Given the description of an element on the screen output the (x, y) to click on. 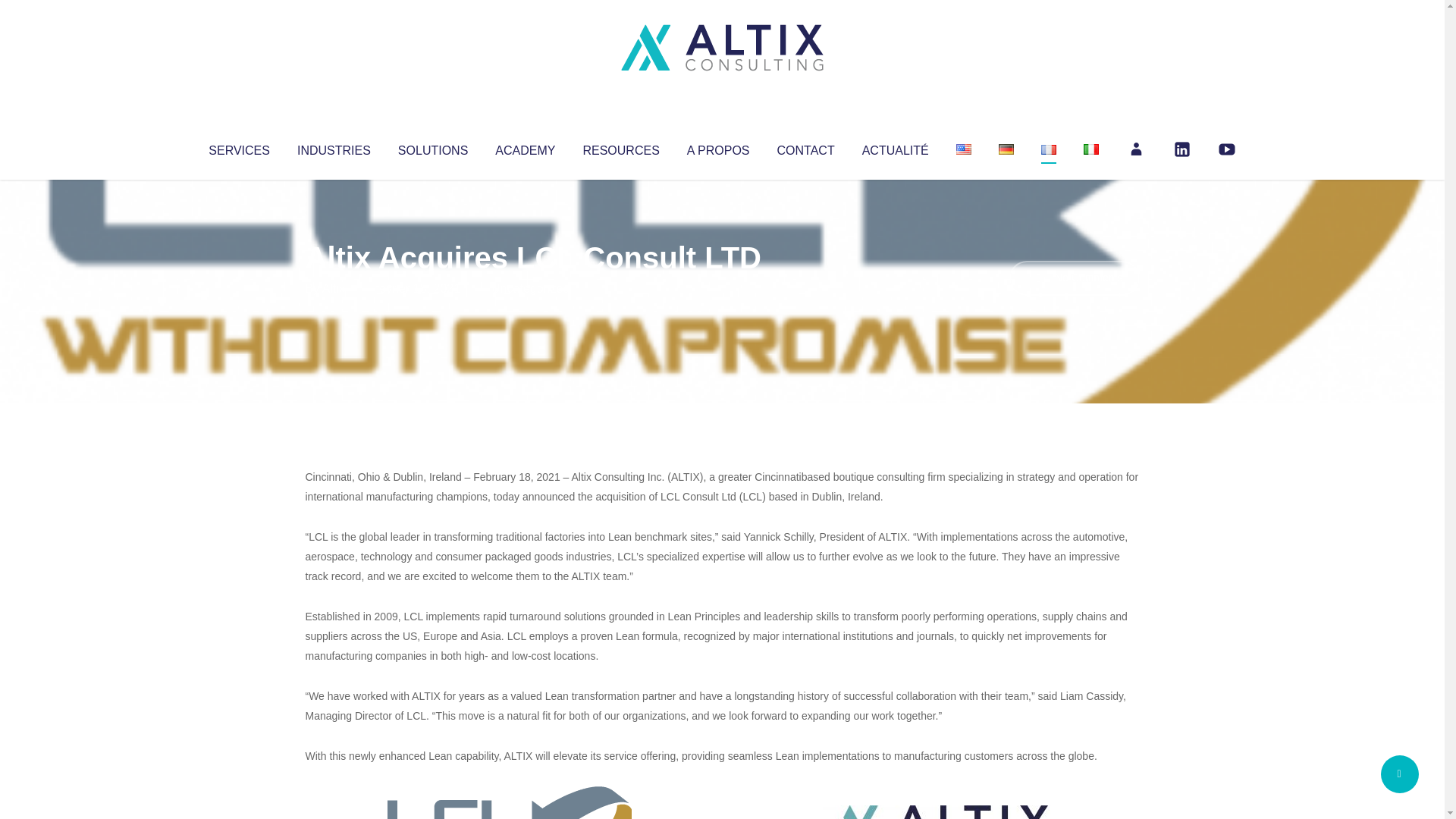
Altix (333, 287)
RESOURCES (620, 146)
SERVICES (238, 146)
A PROPOS (718, 146)
Articles par Altix (333, 287)
INDUSTRIES (334, 146)
ACADEMY (524, 146)
No Comments (1073, 278)
SOLUTIONS (432, 146)
Uncategorized (530, 287)
